Given the description of an element on the screen output the (x, y) to click on. 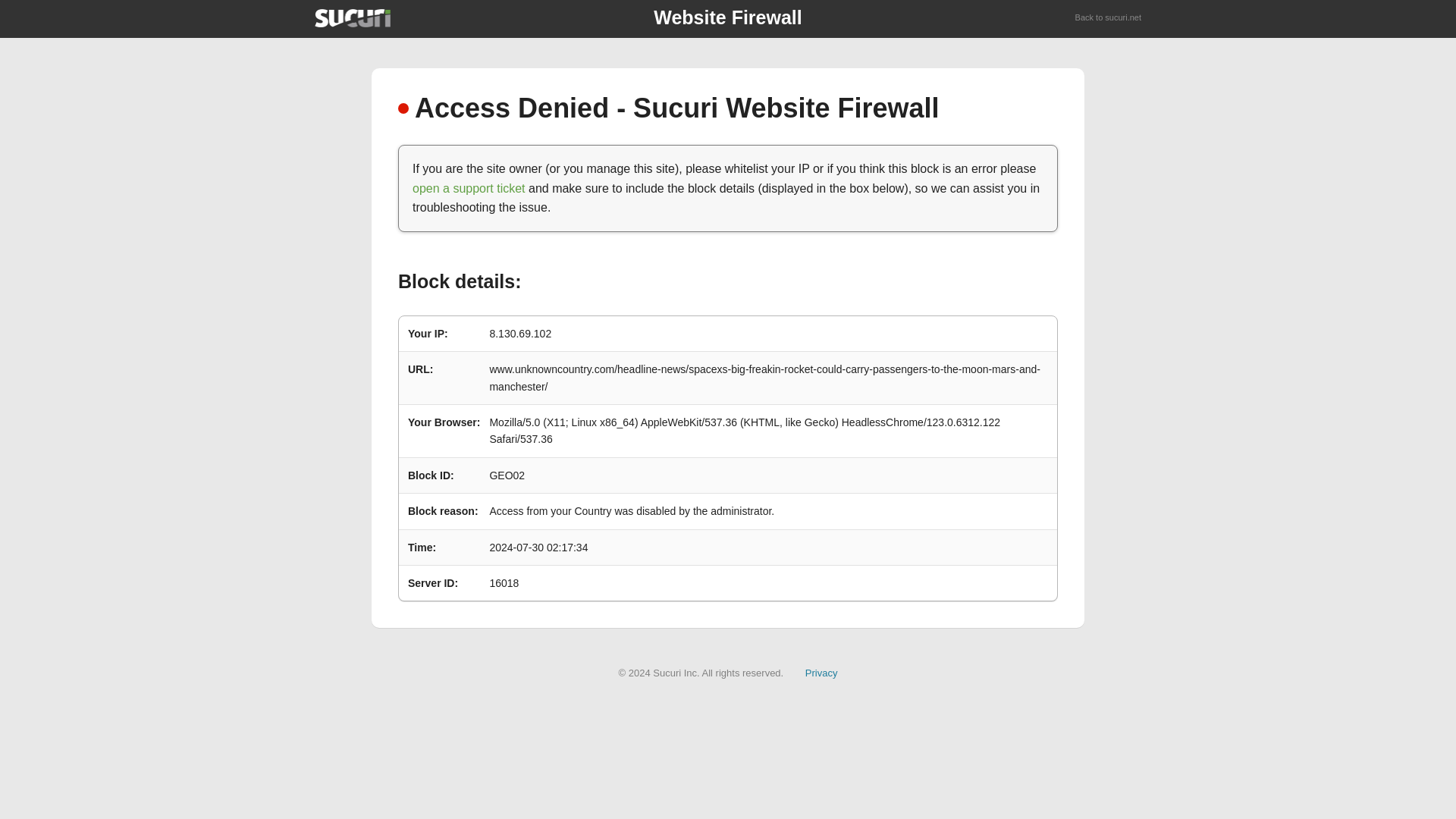
open a support ticket (468, 187)
Privacy (821, 672)
Back to sucuri.net (1108, 18)
